Given the description of an element on the screen output the (x, y) to click on. 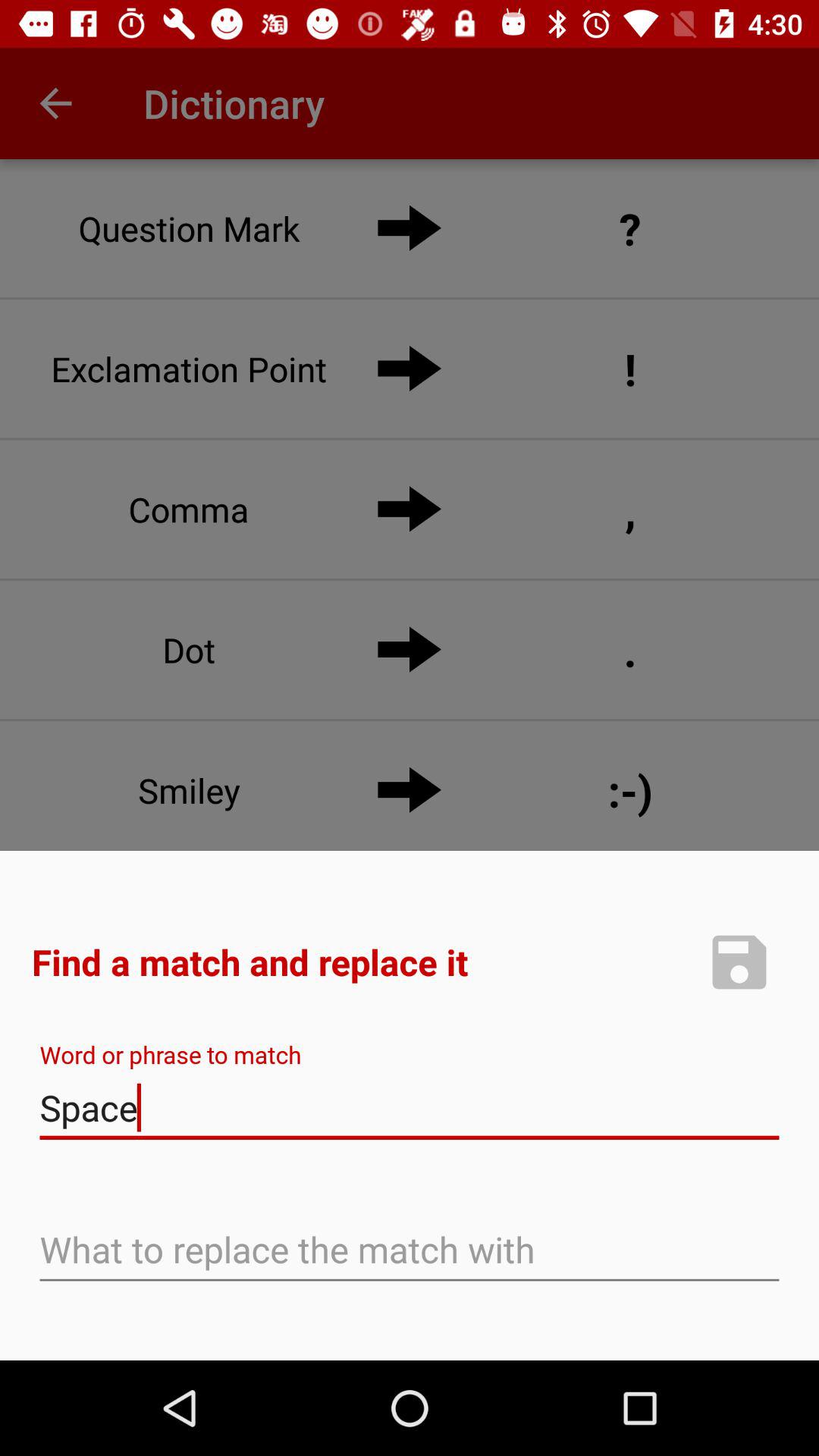
save page (739, 962)
